Given the description of an element on the screen output the (x, y) to click on. 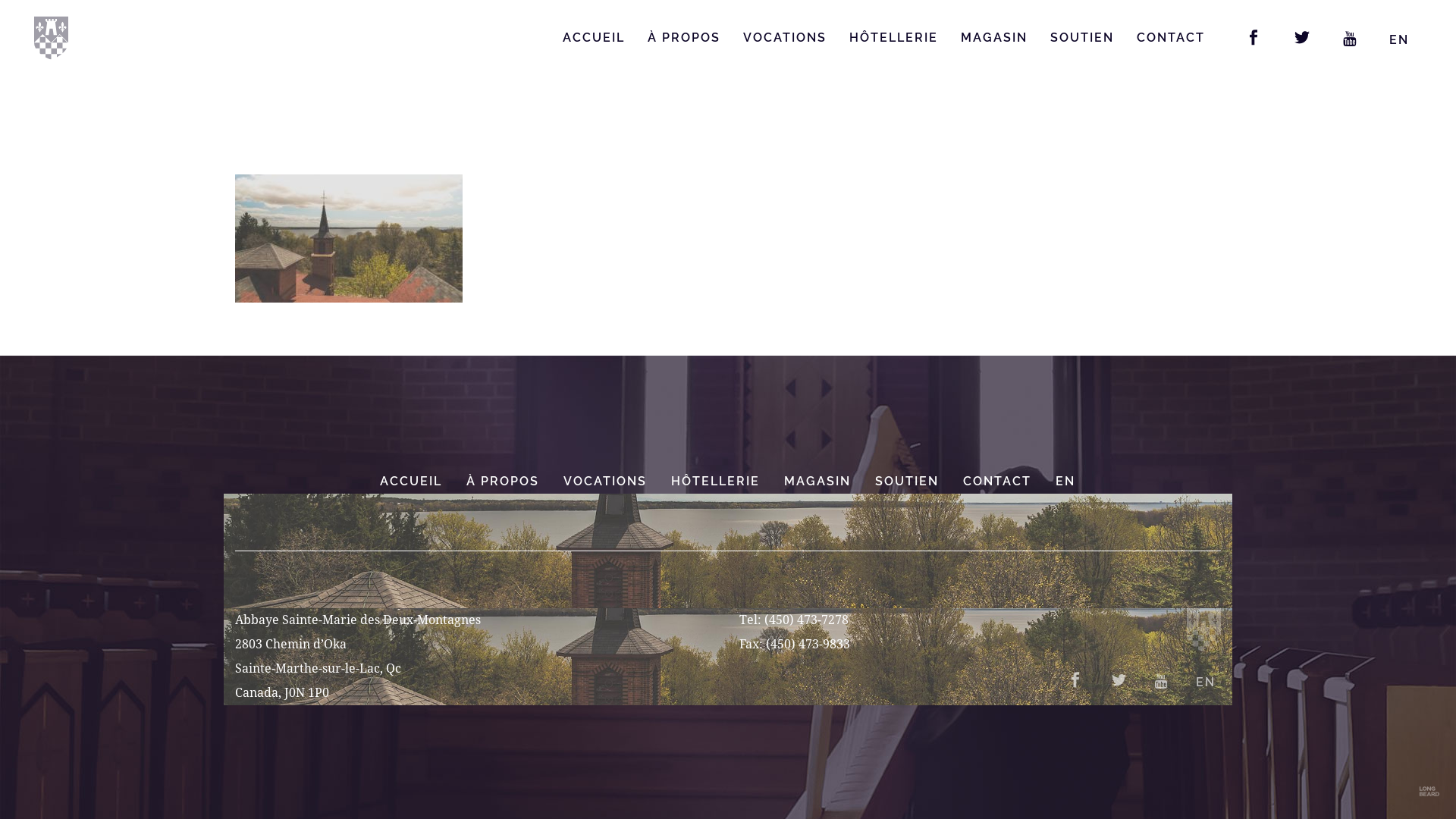
CONTACT Element type: text (1170, 37)
EN Element type: text (1205, 670)
SOUTIEN Element type: text (1081, 37)
MAGASIN Element type: text (993, 37)
logo_white Element type: hover (1203, 630)
EN Element type: text (1065, 481)
EN Element type: text (1398, 39)
MAGASIN Element type: text (817, 481)
VOCATIONS Element type: text (605, 481)
SOUTIEN Element type: text (906, 481)
ACCUEIL Element type: text (411, 481)
CONTACT Element type: text (997, 481)
ACCUEIL Element type: text (593, 37)
VOCATIONS Element type: text (784, 37)
